Given the description of an element on the screen output the (x, y) to click on. 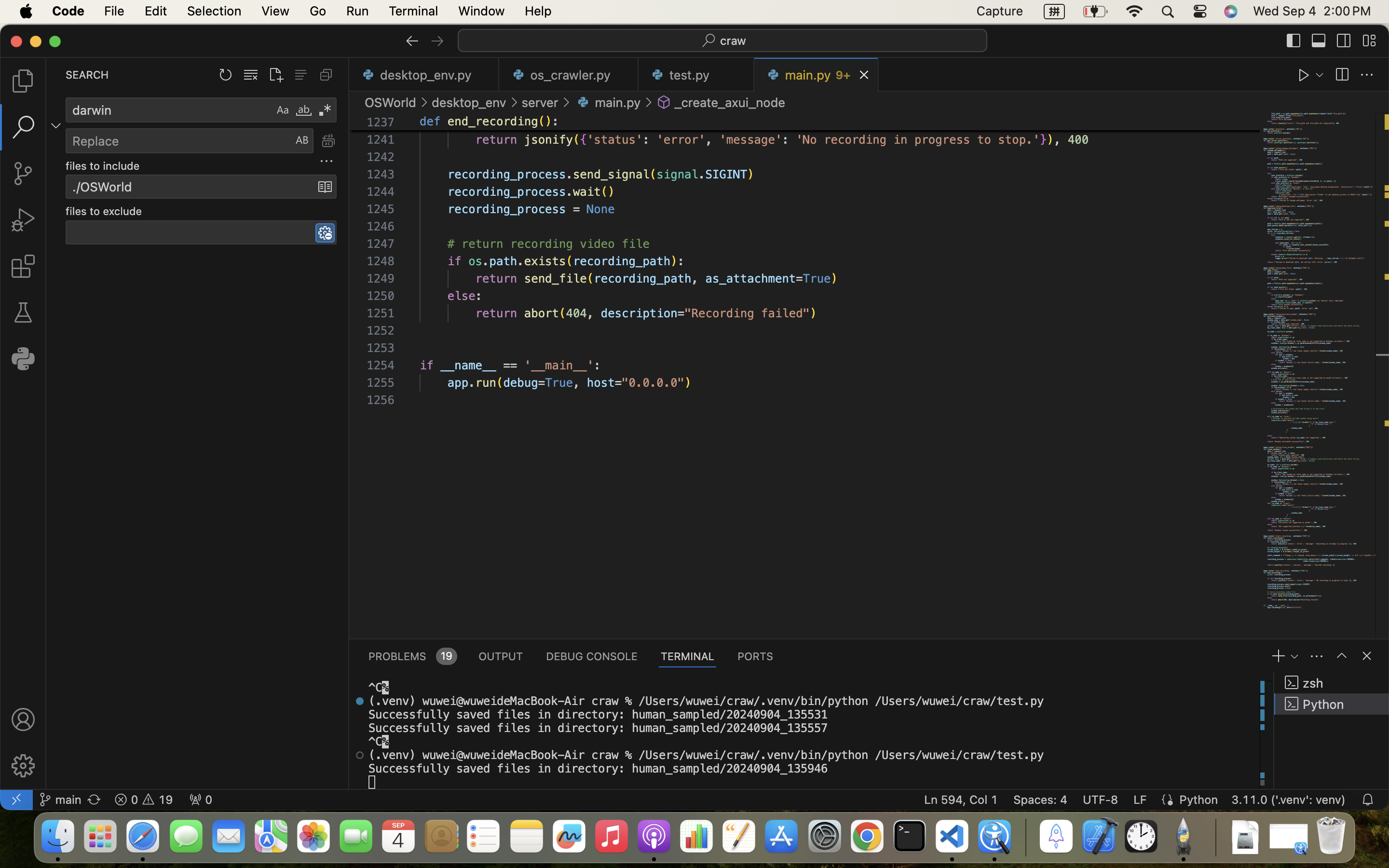
 Element type: AXGroup (23, 127)
19 0   Element type: AXButton (143, 799)
 Element type: AXGroup (23, 719)
0.4285714328289032 Element type: AXDockItem (1024, 836)
zsh  Element type: AXGroup (1331, 682)
